Given the description of an element on the screen output the (x, y) to click on. 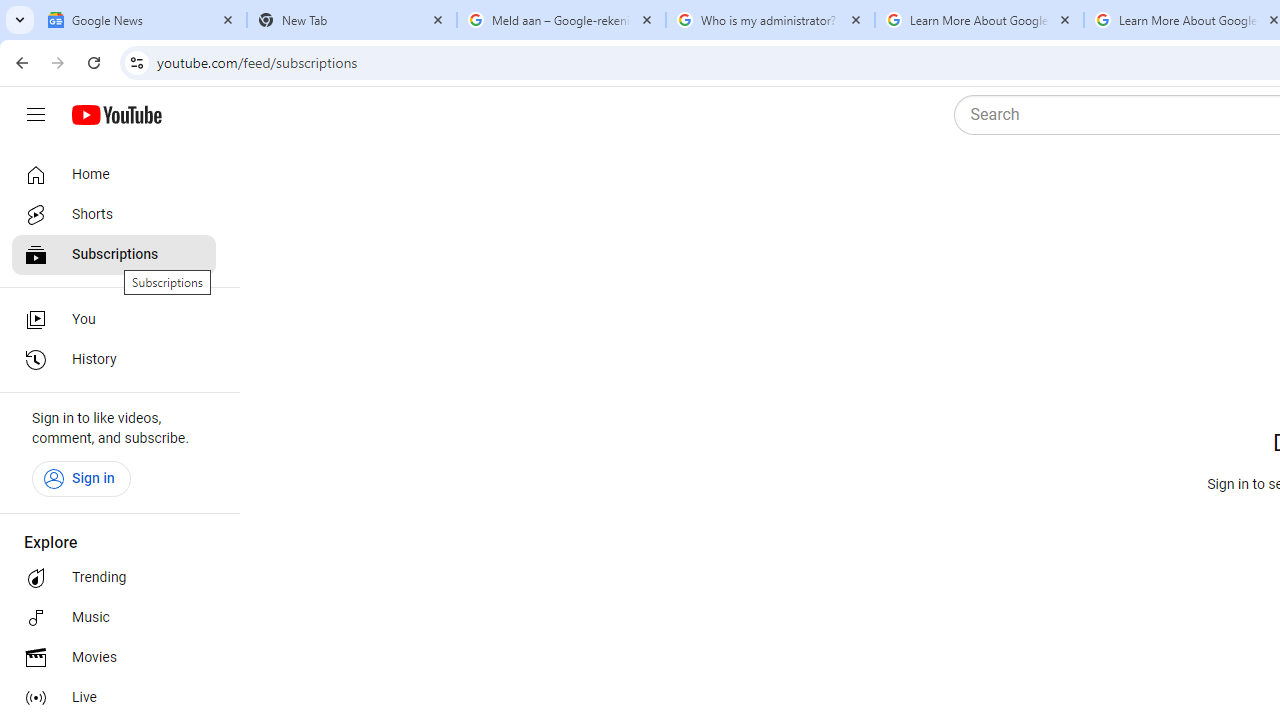
History (113, 359)
New Tab (351, 20)
Music (113, 617)
Guide (35, 115)
